Given the description of an element on the screen output the (x, y) to click on. 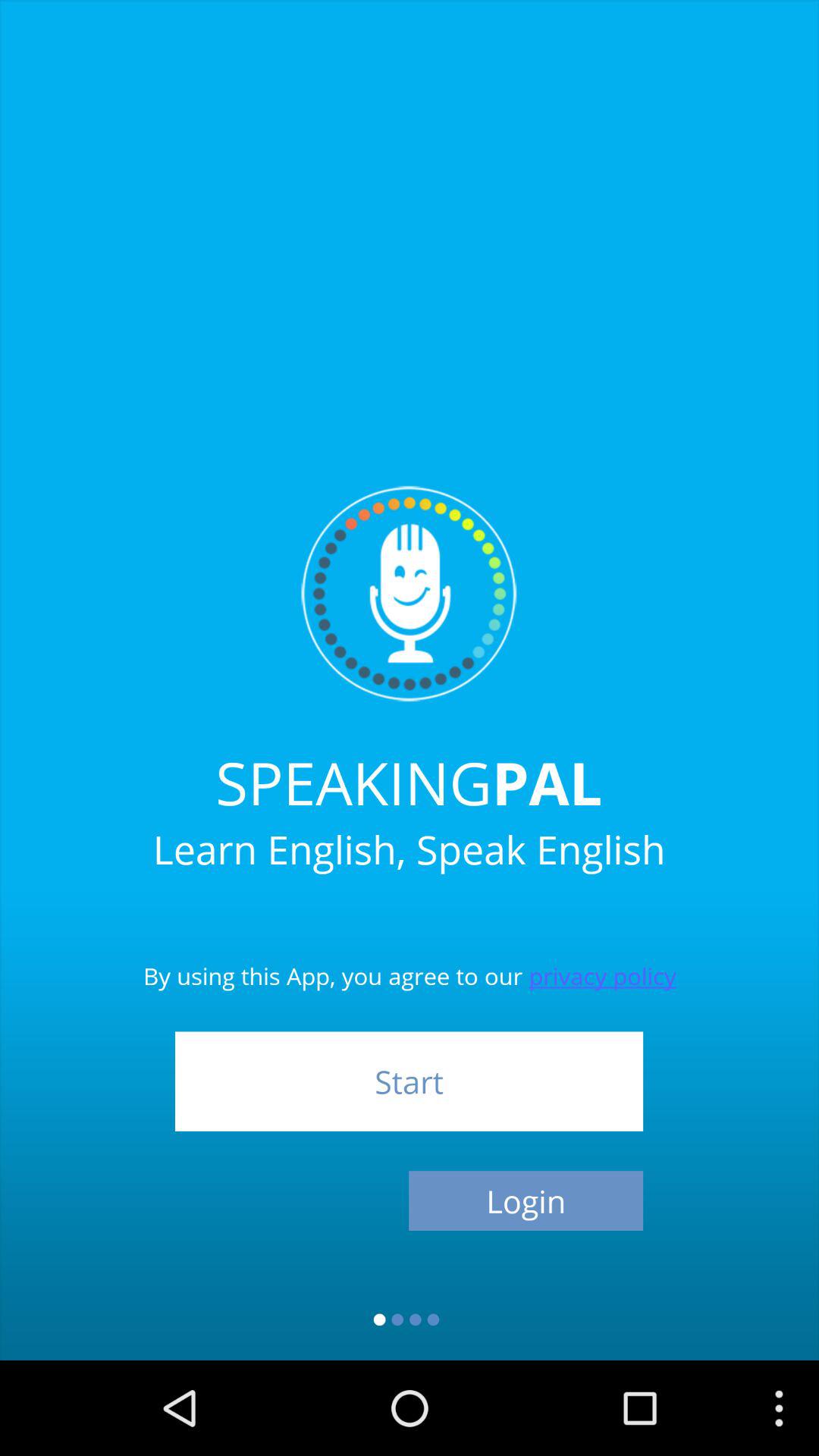
choose the start item (409, 1081)
